Given the description of an element on the screen output the (x, y) to click on. 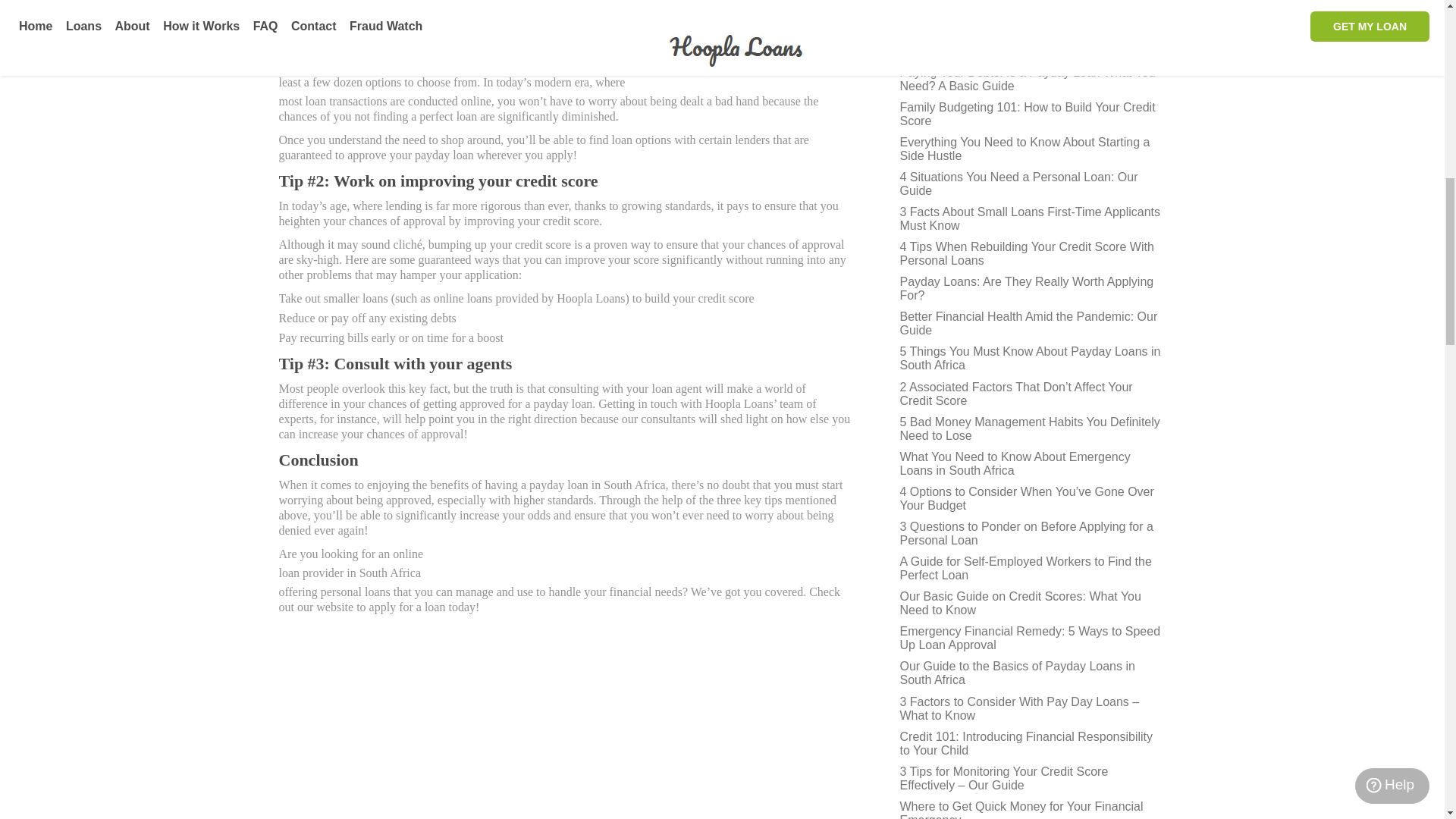
loan provider in South Africa (567, 572)
Everything You Need to Know About Payday Loans: A Guide (1032, 43)
